Given the description of an element on the screen output the (x, y) to click on. 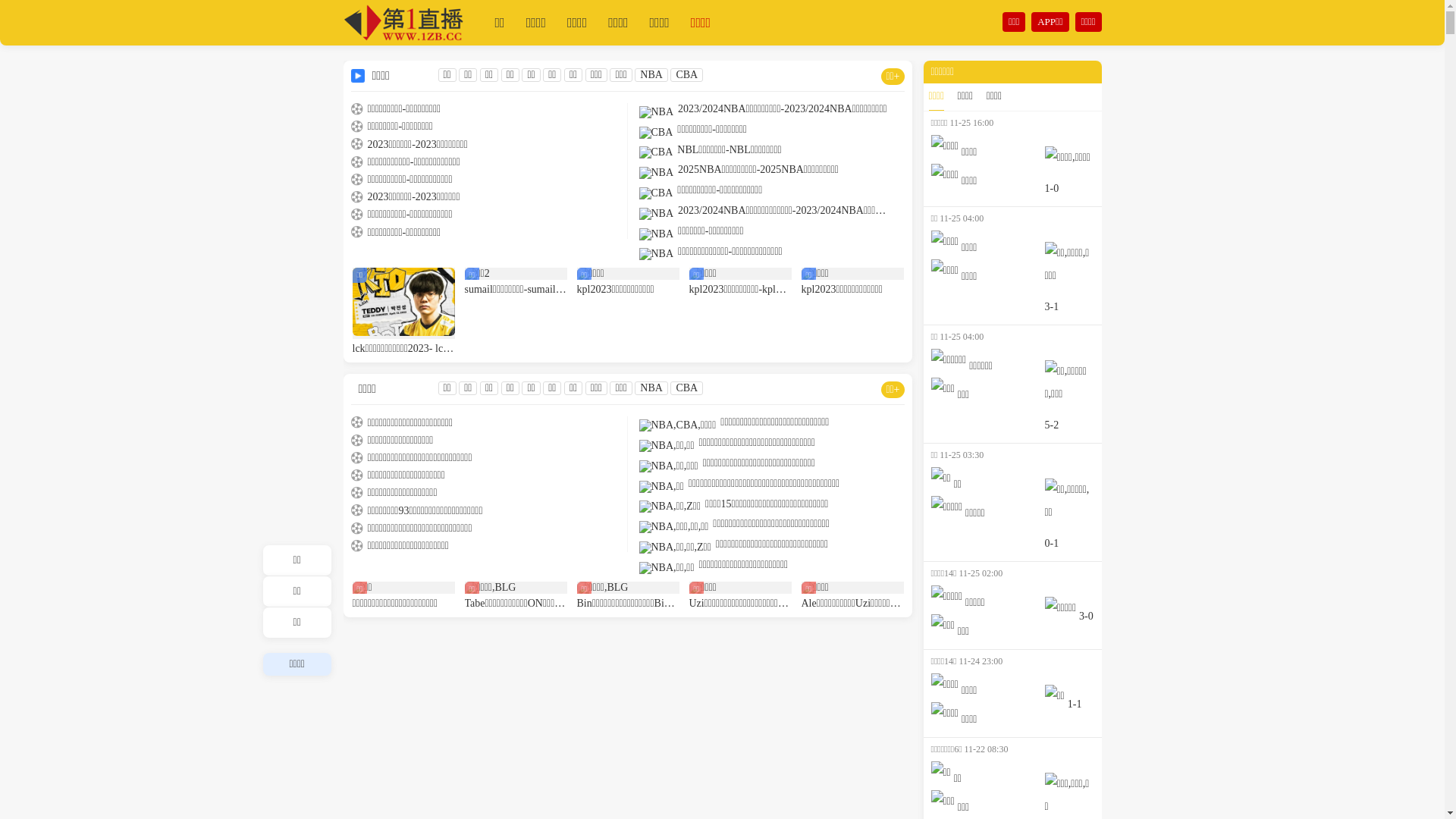
NBA Element type: text (651, 74)
NBA Element type: text (651, 387)
CBA Element type: text (686, 74)
CBA Element type: text (686, 387)
